Given the description of an element on the screen output the (x, y) to click on. 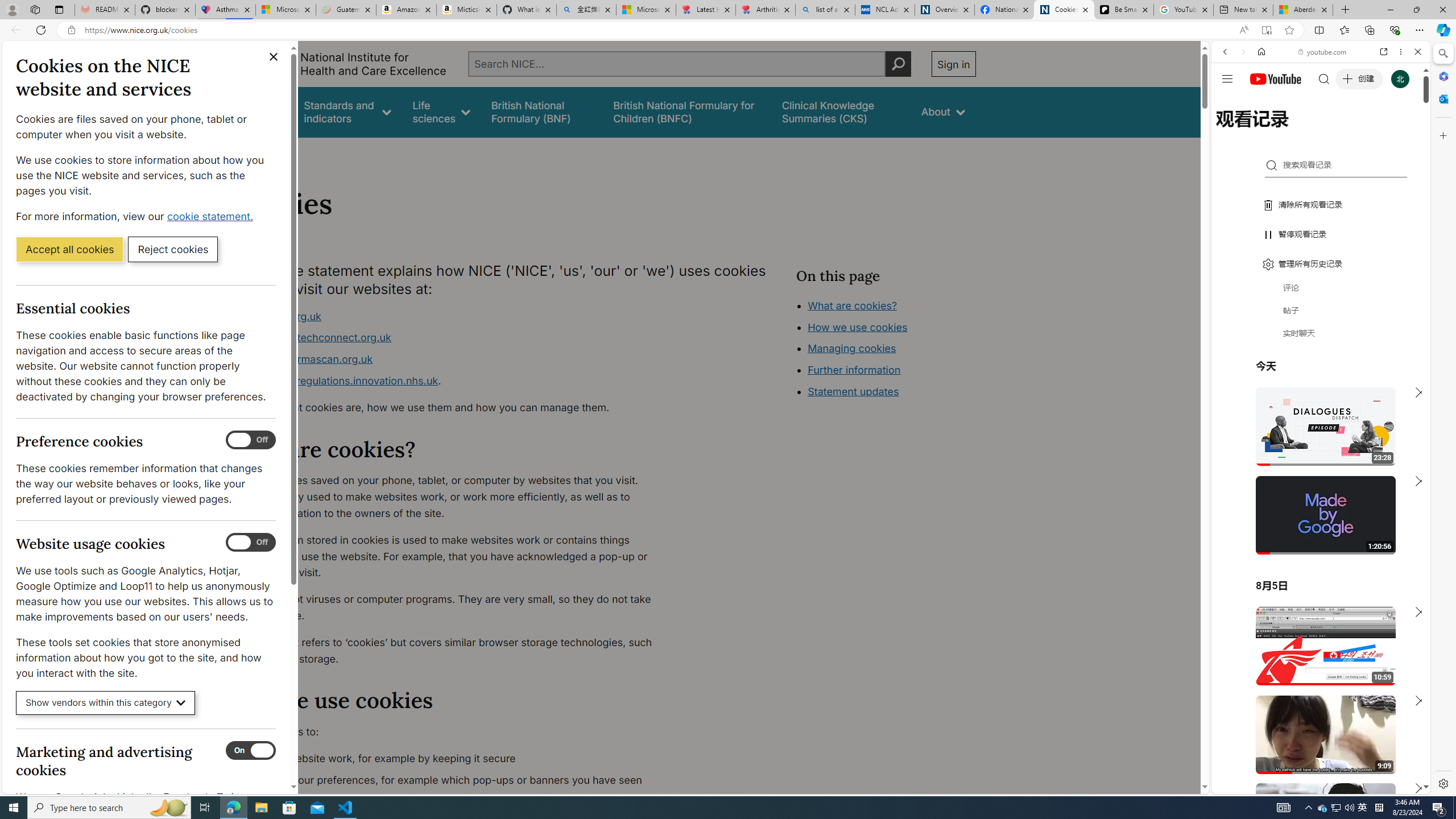
Accept all cookies (69, 248)
Reject cookies (173, 248)
Google (1320, 281)
Close cookie banner (273, 56)
Perform search (898, 63)
Asthma Inhalers: Names and Types (225, 9)
www.nice.org.uk (452, 316)
IMAGES (1262, 130)
list of asthma inhalers uk - Search (825, 9)
This site scope (1259, 102)
